Given the description of an element on the screen output the (x, y) to click on. 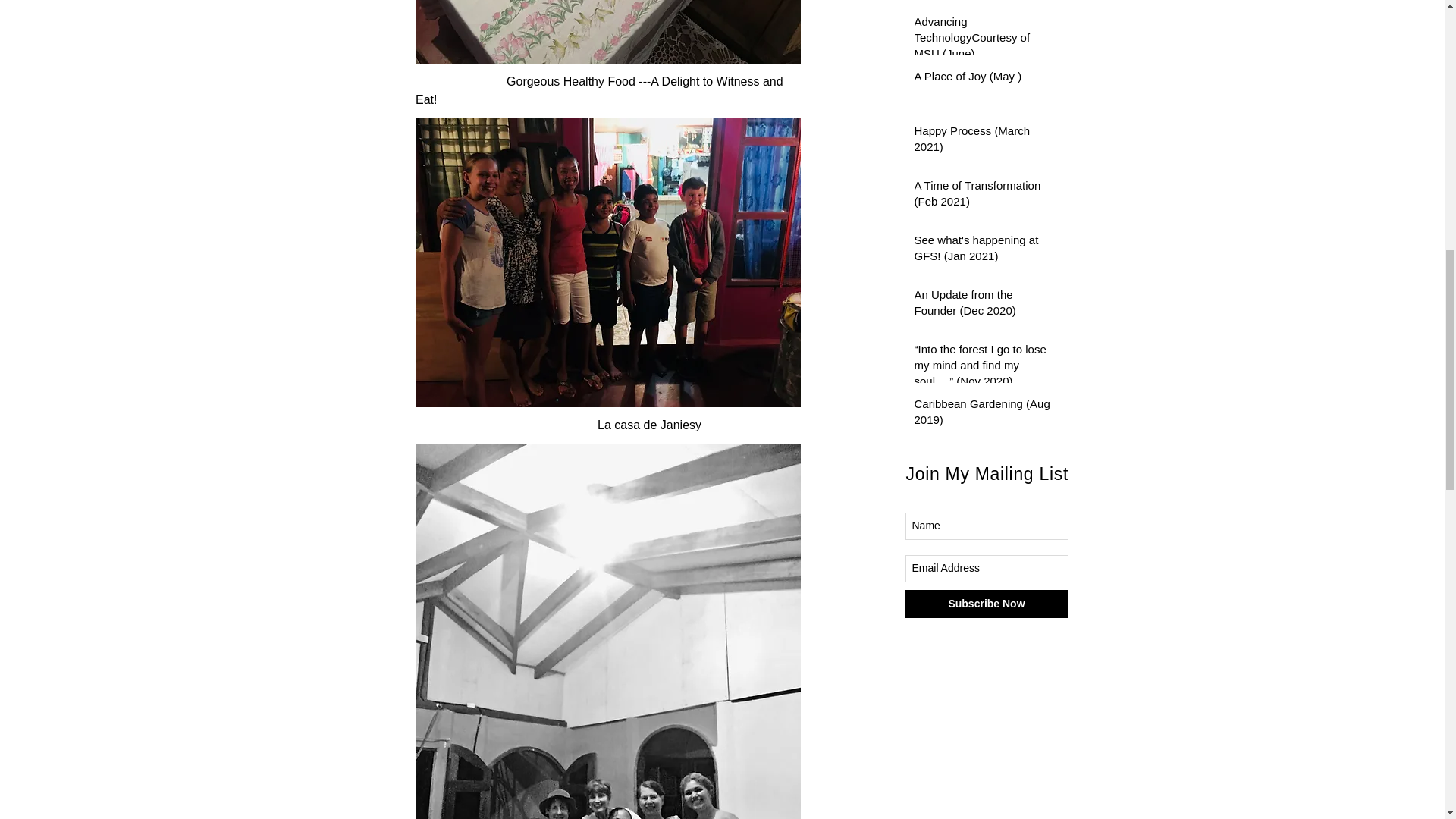
Subscribe Now (986, 603)
